Given the description of an element on the screen output the (x, y) to click on. 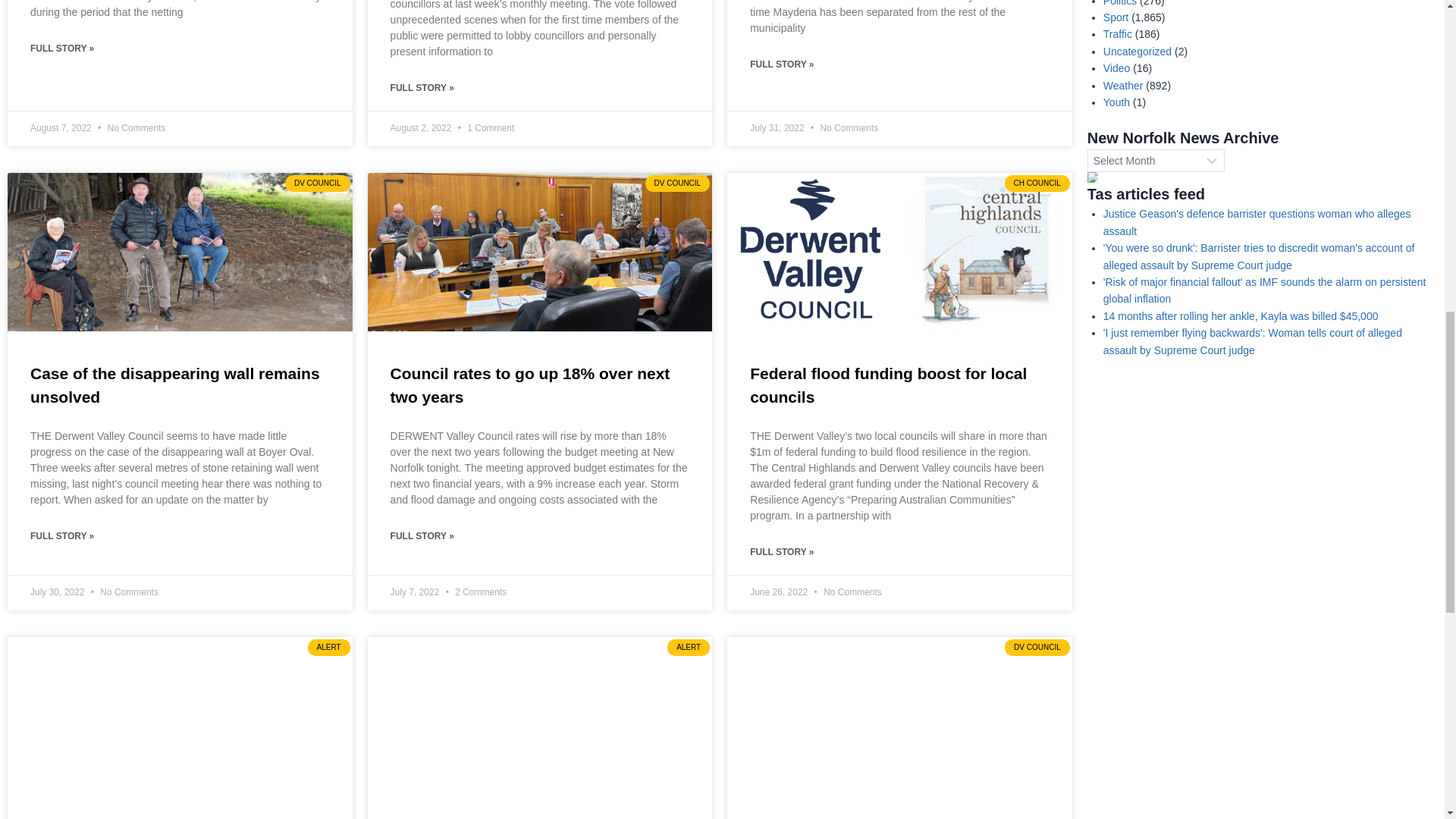
Federal flood funding boost for local councils (887, 385)
Case of the disappearing wall remains unsolved (175, 385)
